Given the description of an element on the screen output the (x, y) to click on. 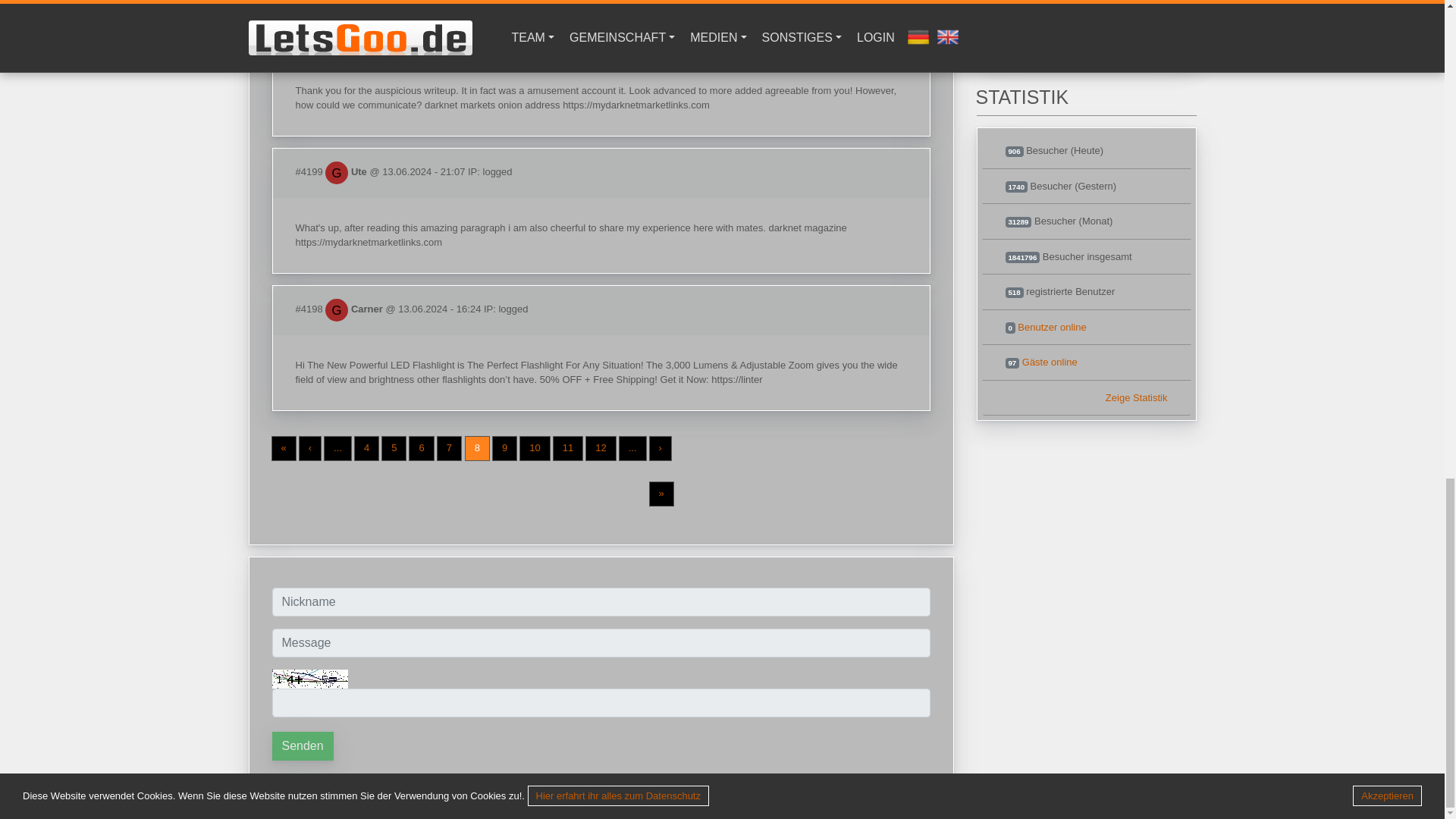
5 (393, 448)
4 (365, 448)
... (337, 448)
